Given the description of an element on the screen output the (x, y) to click on. 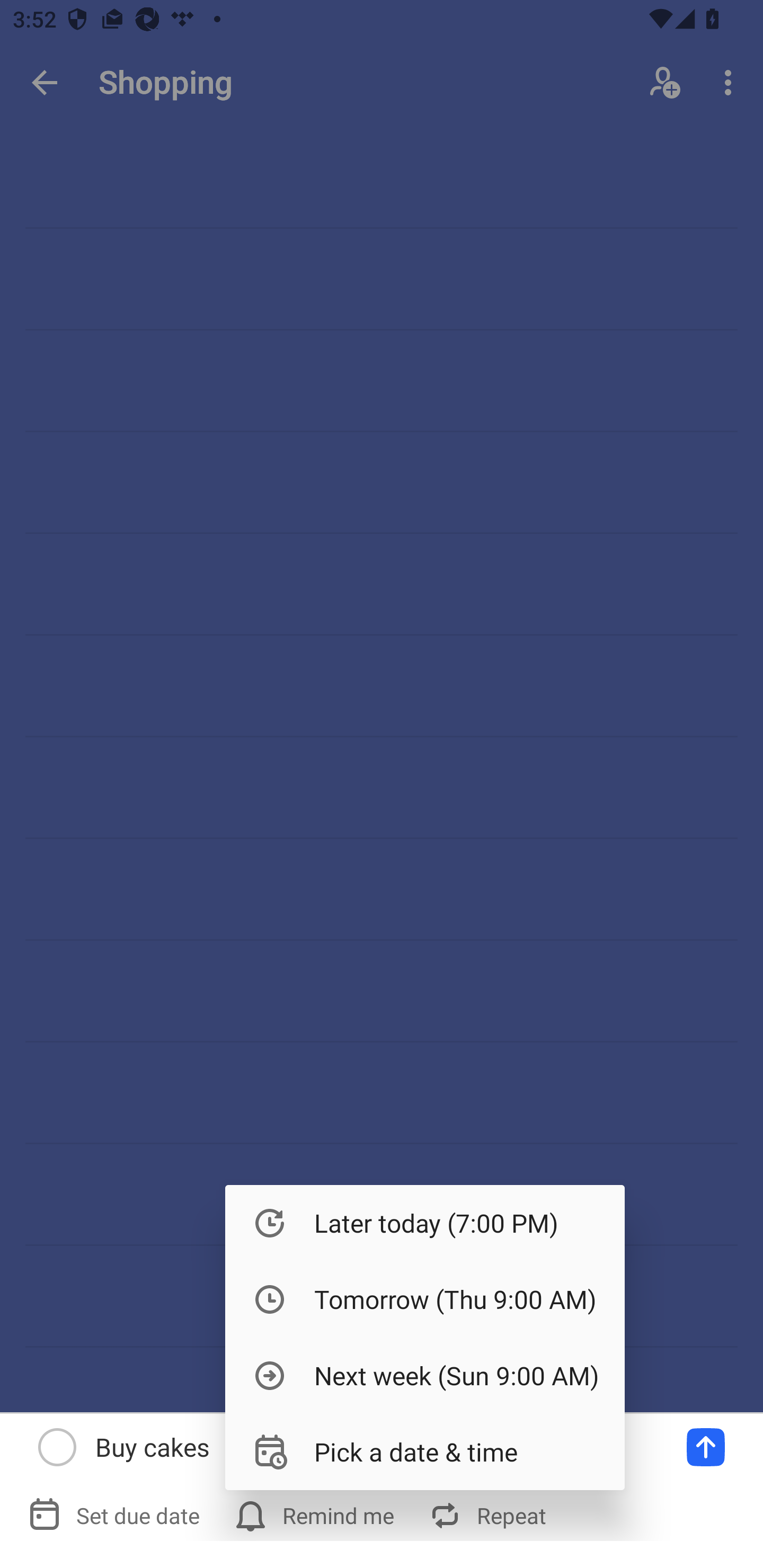
Pick a date & time4 in 4 Pick a date & time (424, 1451)
